Given the description of an element on the screen output the (x, y) to click on. 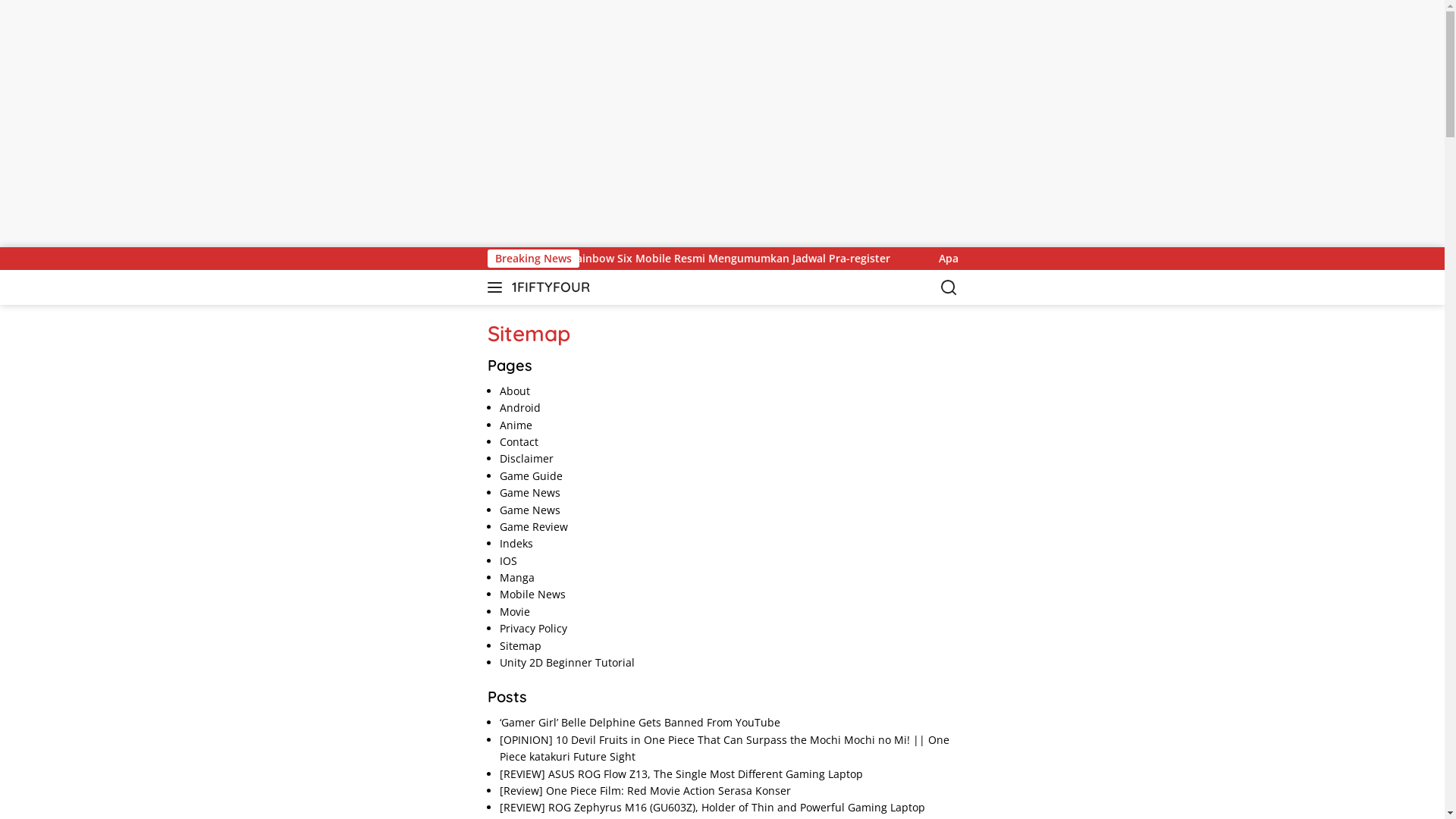
Sitemap Element type: text (520, 645)
Anime Element type: text (515, 424)
IOS Element type: text (508, 560)
About Element type: text (514, 390)
Movie Element type: text (514, 611)
Cara Mudah Membuat Google Form di Laptop Yang Kamu Miliki Element type: text (756, 258)
1FIFTYFOUR Element type: text (550, 286)
Mobile News Element type: text (532, 593)
Android Element type: text (519, 407)
Manga Element type: text (516, 577)
Indeks Element type: text (516, 543)
Game Guide Element type: text (530, 475)
Contact Element type: text (518, 441)
Game News Element type: text (529, 509)
Disclaimer Element type: text (526, 458)
Game Review Element type: text (533, 526)
3rd party ad content Element type: hover (722, 121)
Game News Element type: text (529, 492)
Unity 2D Beginner Tutorial Element type: text (566, 662)
Privacy Policy Element type: text (533, 628)
[Review] One Piece Film: Red Movie Action Serasa Konser Element type: text (644, 790)
